Given the description of an element on the screen output the (x, y) to click on. 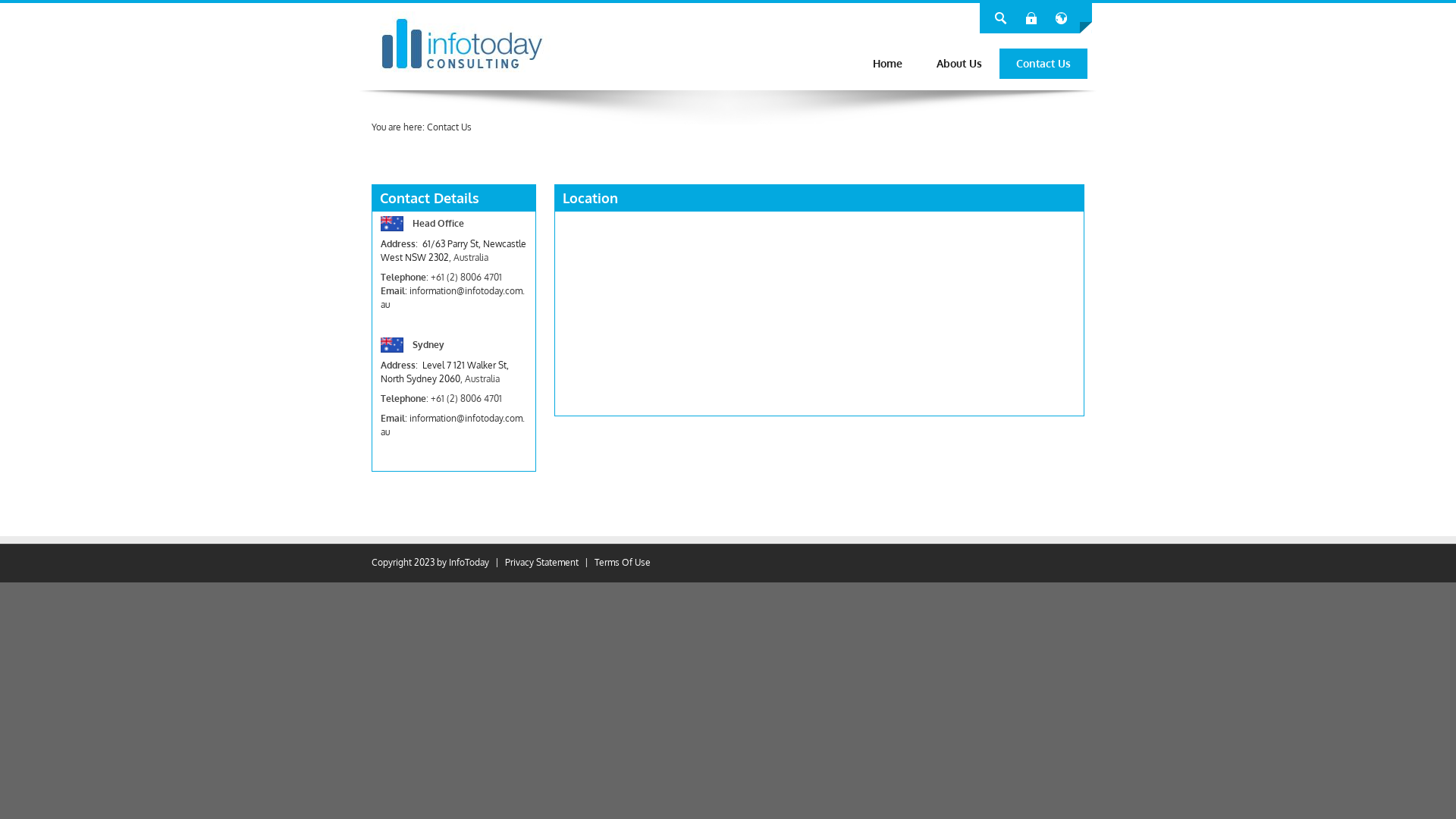
Terms Of Use Element type: text (622, 561)
information@infotoday.com.au Element type: text (452, 297)
Contact Us Element type: text (1043, 63)
About Us Element type: text (958, 63)
Home Element type: text (887, 63)
Contact Us Element type: text (448, 126)
Privacy Statement Element type: text (541, 561)
Change Language Element type: hover (1061, 17)
Click to Search Element type: hover (1000, 17)
Google conversion frame Element type: hover (447, 162)
information@infotoday.com.au Element type: text (452, 424)
